Given the description of an element on the screen output the (x, y) to click on. 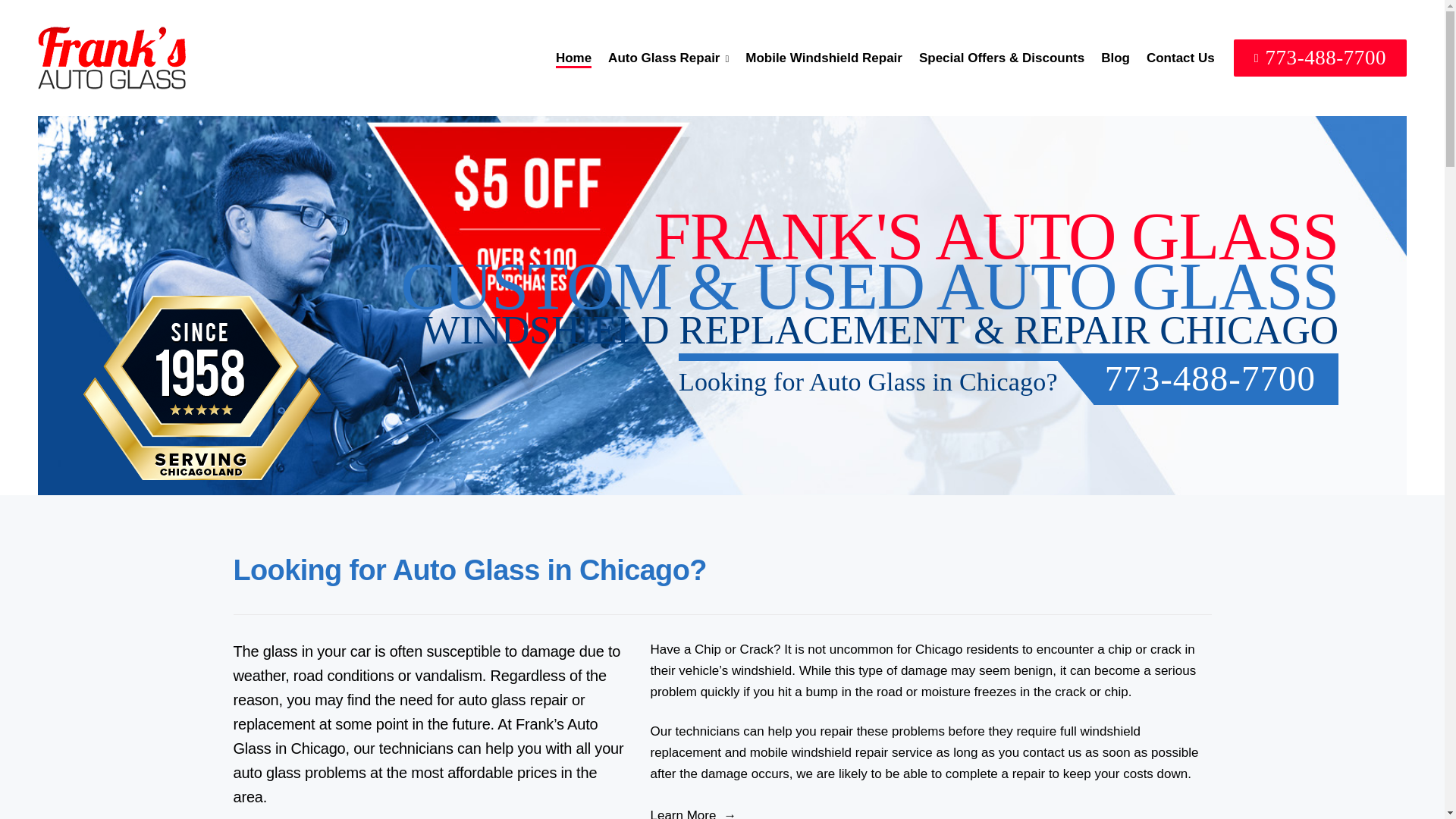
Mobile Windshield Repair (823, 56)
773-488-7700 (1215, 380)
Home (573, 56)
Auto Glass Repair (668, 56)
Contact Us (1180, 56)
Blog (1114, 56)
Auto Glass Repair (668, 56)
Blog (1114, 56)
773-488-7700 (1319, 57)
Contact Us (1180, 56)
Mobile Windshield Repair (823, 56)
Frank's Auto Glass (111, 56)
Home (573, 56)
